Given the description of an element on the screen output the (x, y) to click on. 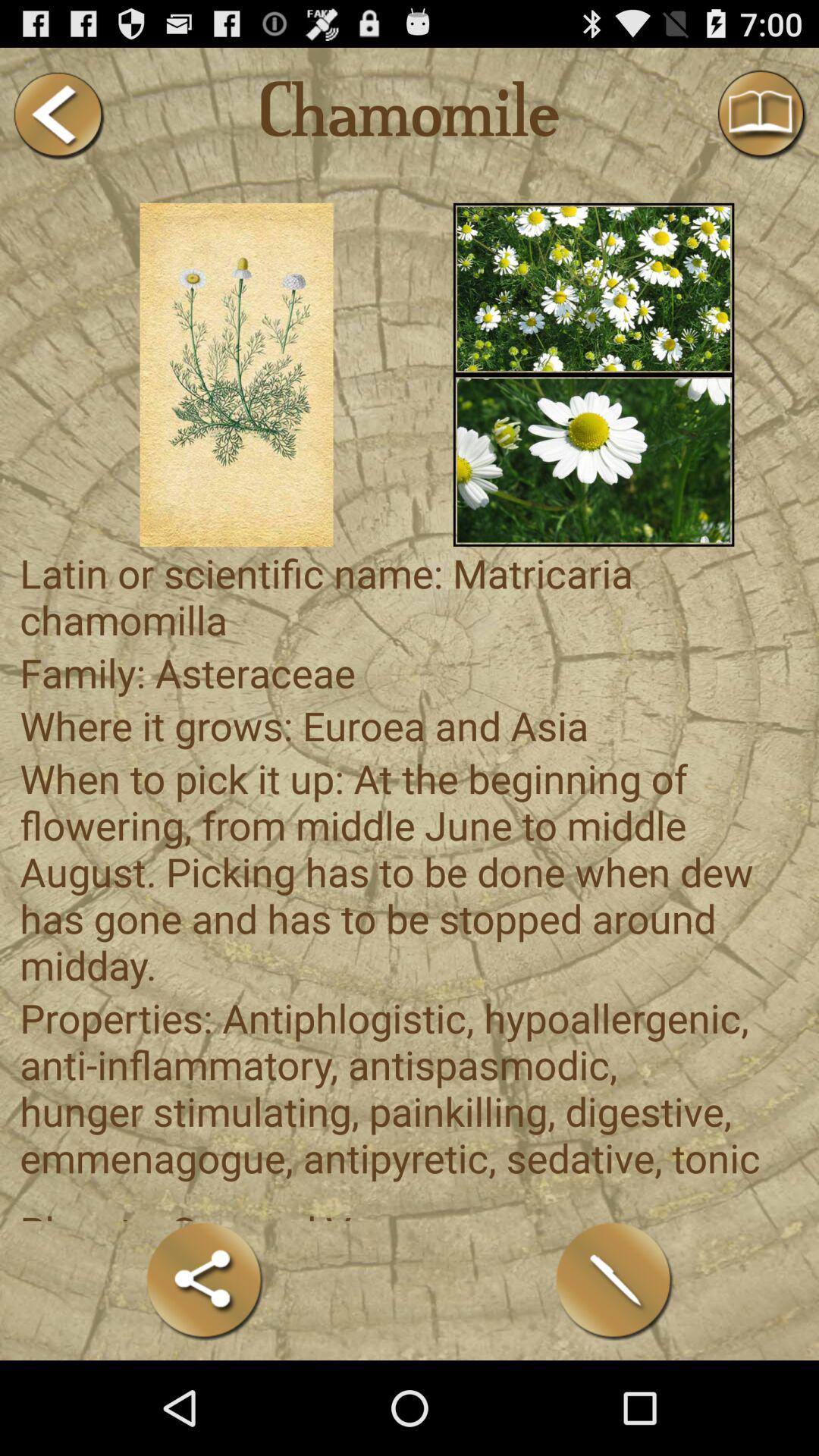
share the other website (204, 1280)
